Given the description of an element on the screen output the (x, y) to click on. 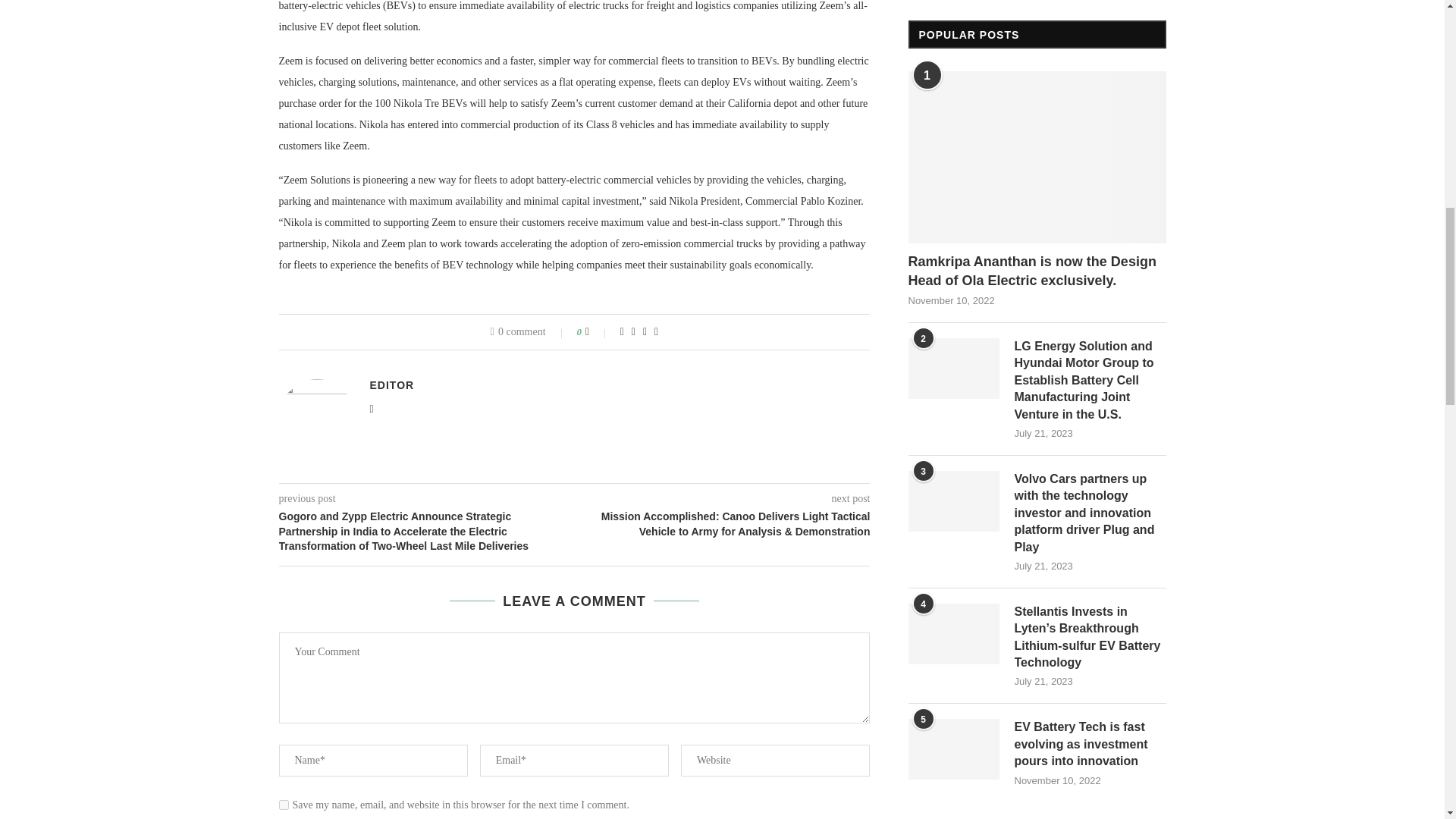
yes (283, 804)
Author Editor (391, 385)
Like (597, 331)
